Given the description of an element on the screen output the (x, y) to click on. 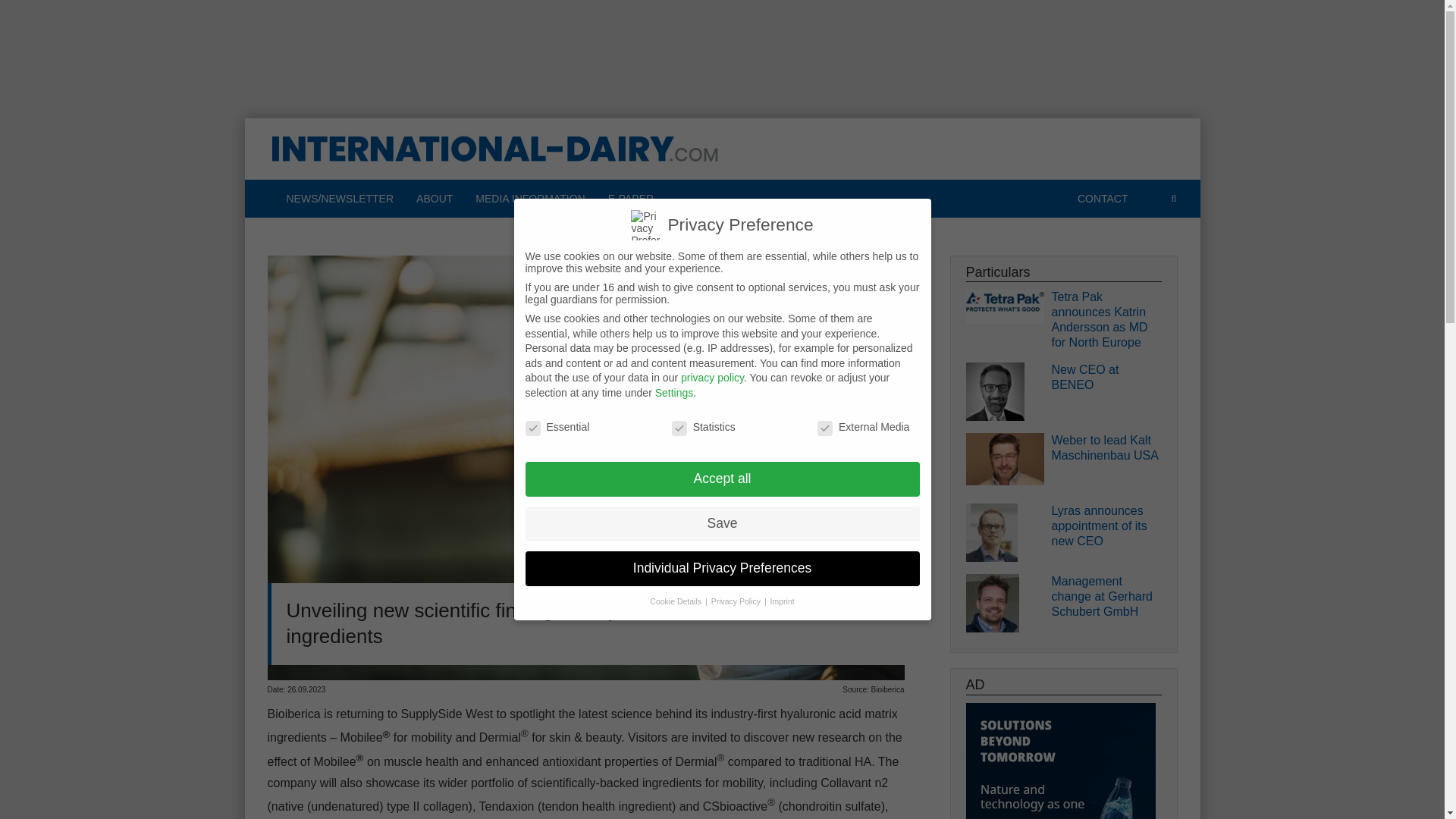
ABOUT (434, 198)
CONTACT (1102, 198)
New CEO at BENEO (1105, 377)
Lyras announces appointment of its new CEO (1105, 525)
MEDIA INFORMATION (529, 198)
Weber to lead Kalt Maschinenbau USA (1105, 448)
Management change at Gerhard Schubert GmbH (1105, 596)
E-PAPER (630, 198)
Tetra Pak announces Katrin Andersson as MD for North Europe (1105, 319)
